Given the description of an element on the screen output the (x, y) to click on. 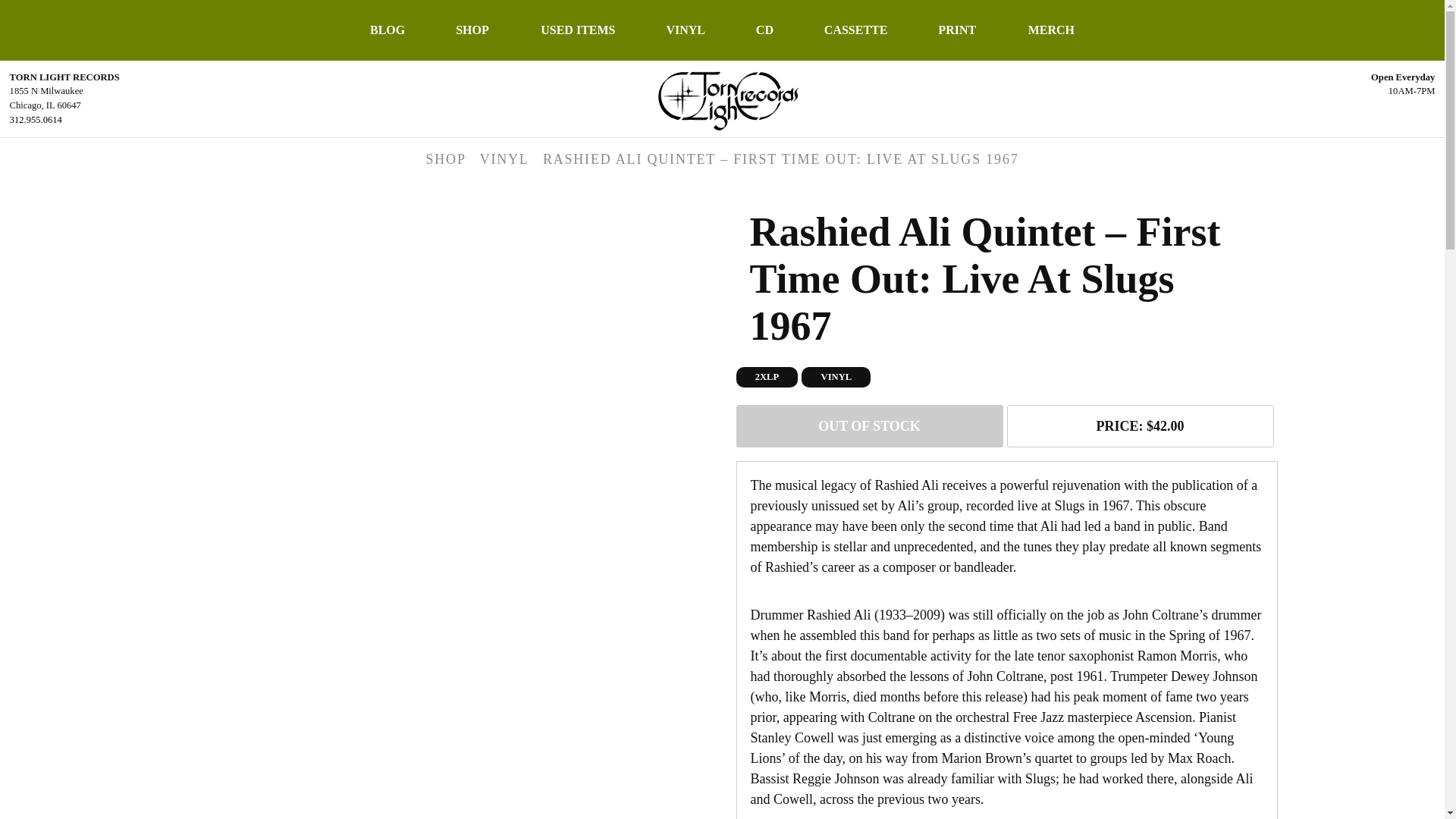
BLOG (387, 30)
SHOP (471, 30)
PRINT (957, 30)
MERCH (1051, 30)
CD (764, 30)
CASSETTE (855, 30)
Home (722, 96)
VINYL (685, 30)
USED ITEMS (577, 30)
